Given the description of an element on the screen output the (x, y) to click on. 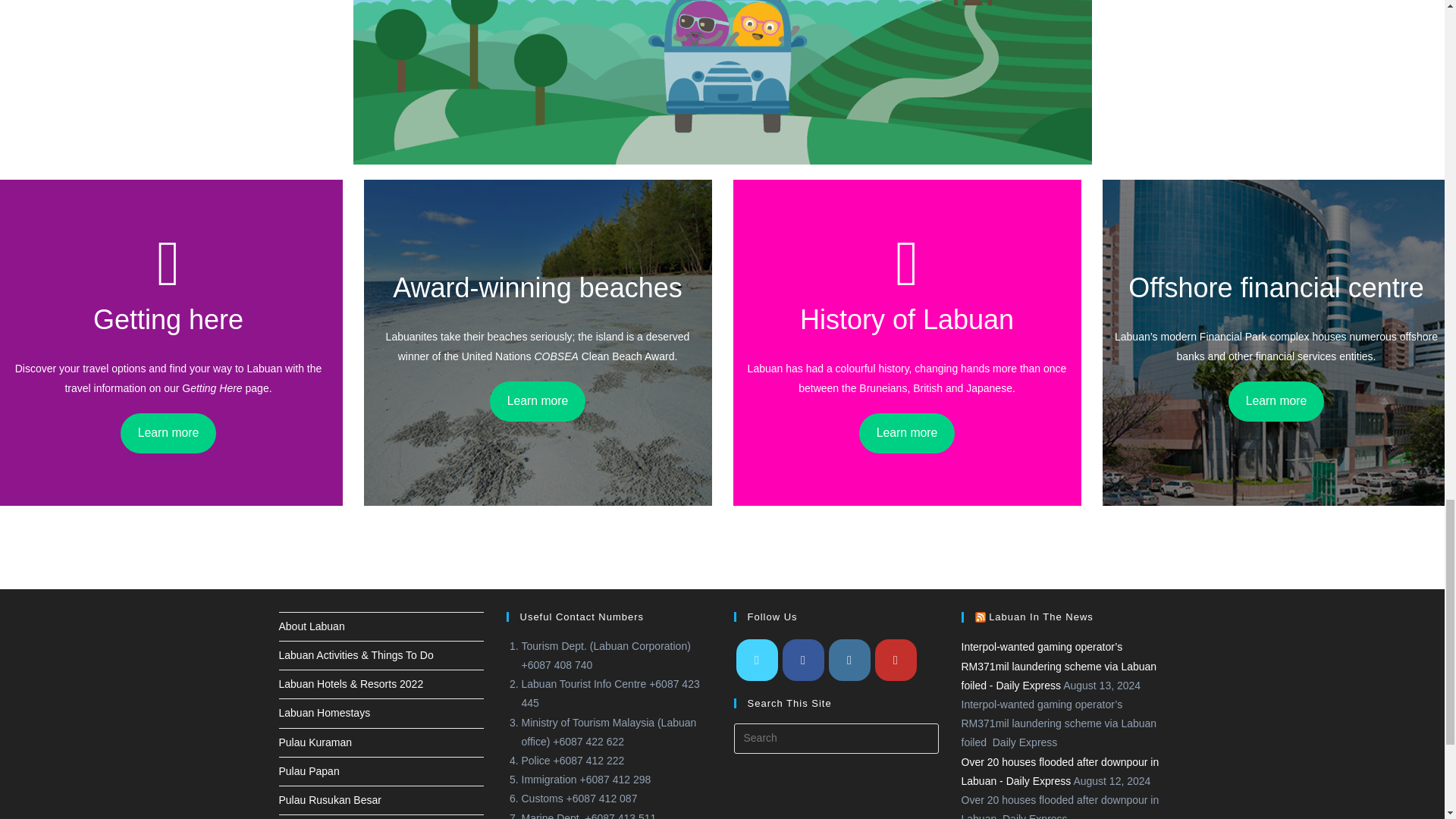
Learn more (537, 401)
Learn more (168, 433)
Learn more (907, 433)
Learn more (1276, 401)
